Given the description of an element on the screen output the (x, y) to click on. 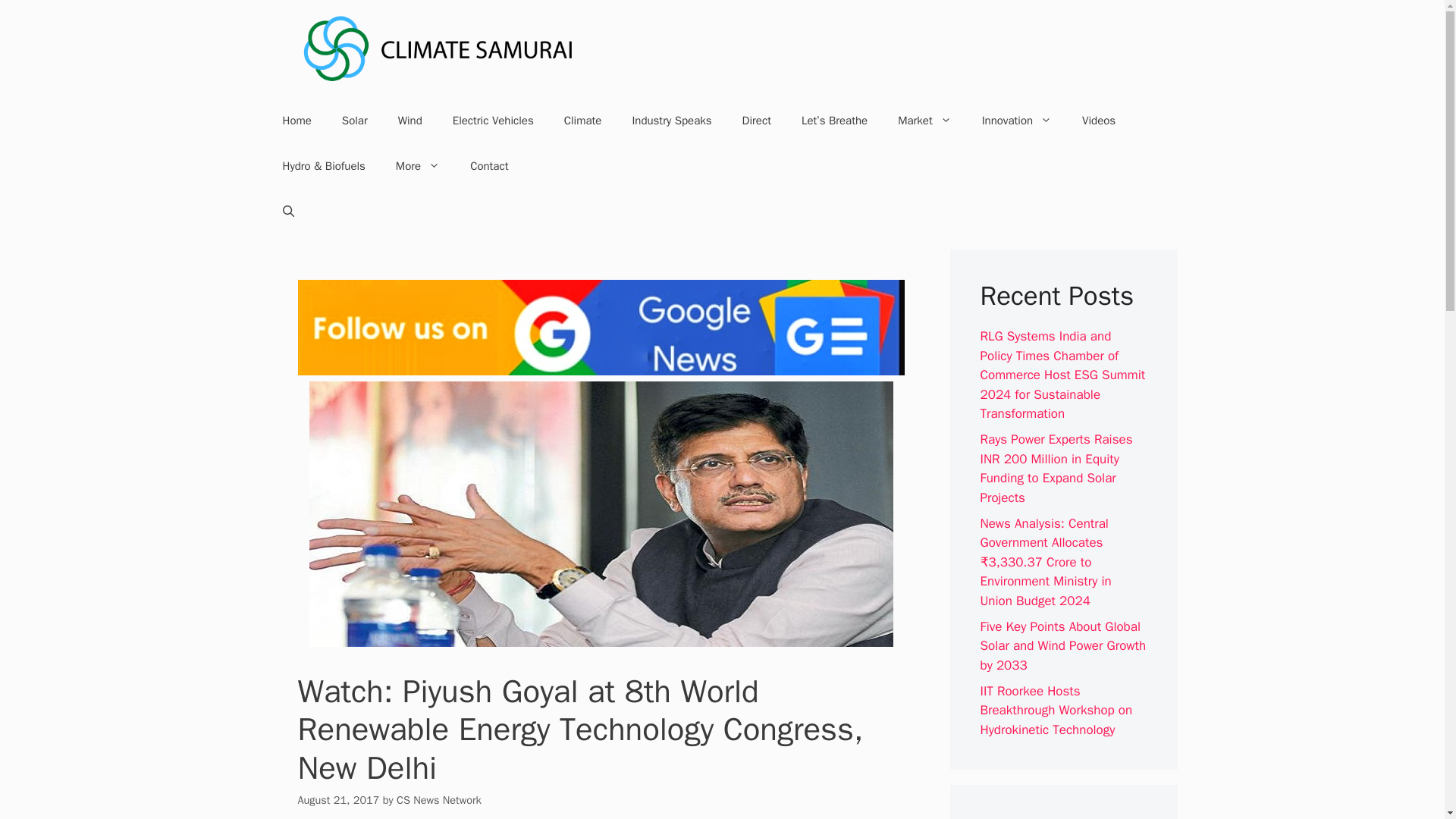
Contact (488, 166)
Home (296, 120)
CS News Network (438, 799)
Climate Samurai (438, 48)
View all posts by CS News Network (438, 799)
Innovation (1016, 120)
Climate Samurai (438, 48)
Direct (756, 120)
More (417, 166)
Wind (410, 120)
Solar (354, 120)
Industry Speaks (670, 120)
Electric Vehicles (493, 120)
Climate (582, 120)
Market (924, 120)
